Given the description of an element on the screen output the (x, y) to click on. 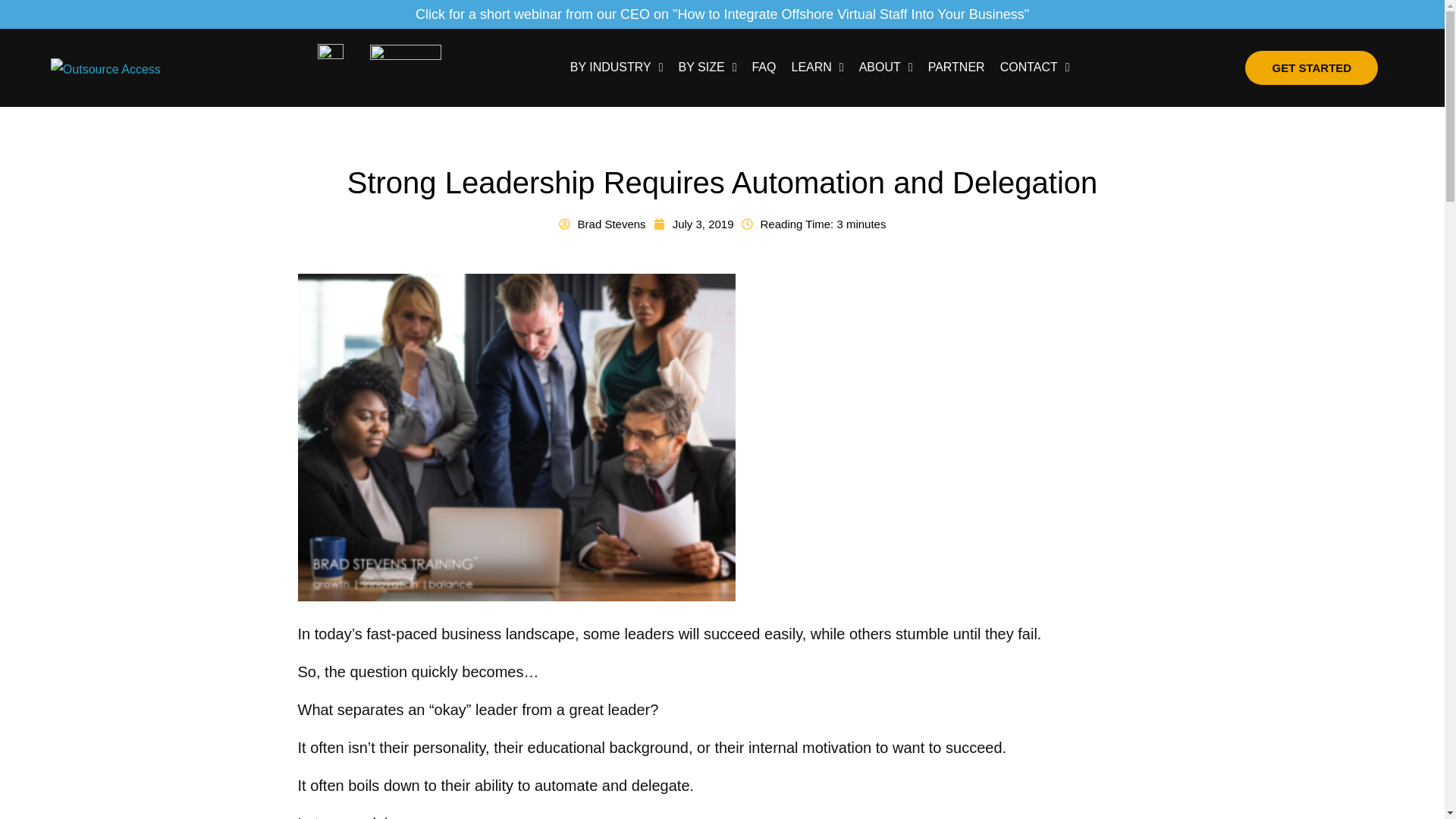
BY SIZE (707, 67)
FAQ (763, 67)
ABOUT (885, 67)
LEARN (816, 67)
BY INDUSTRY (616, 67)
